Given the description of an element on the screen output the (x, y) to click on. 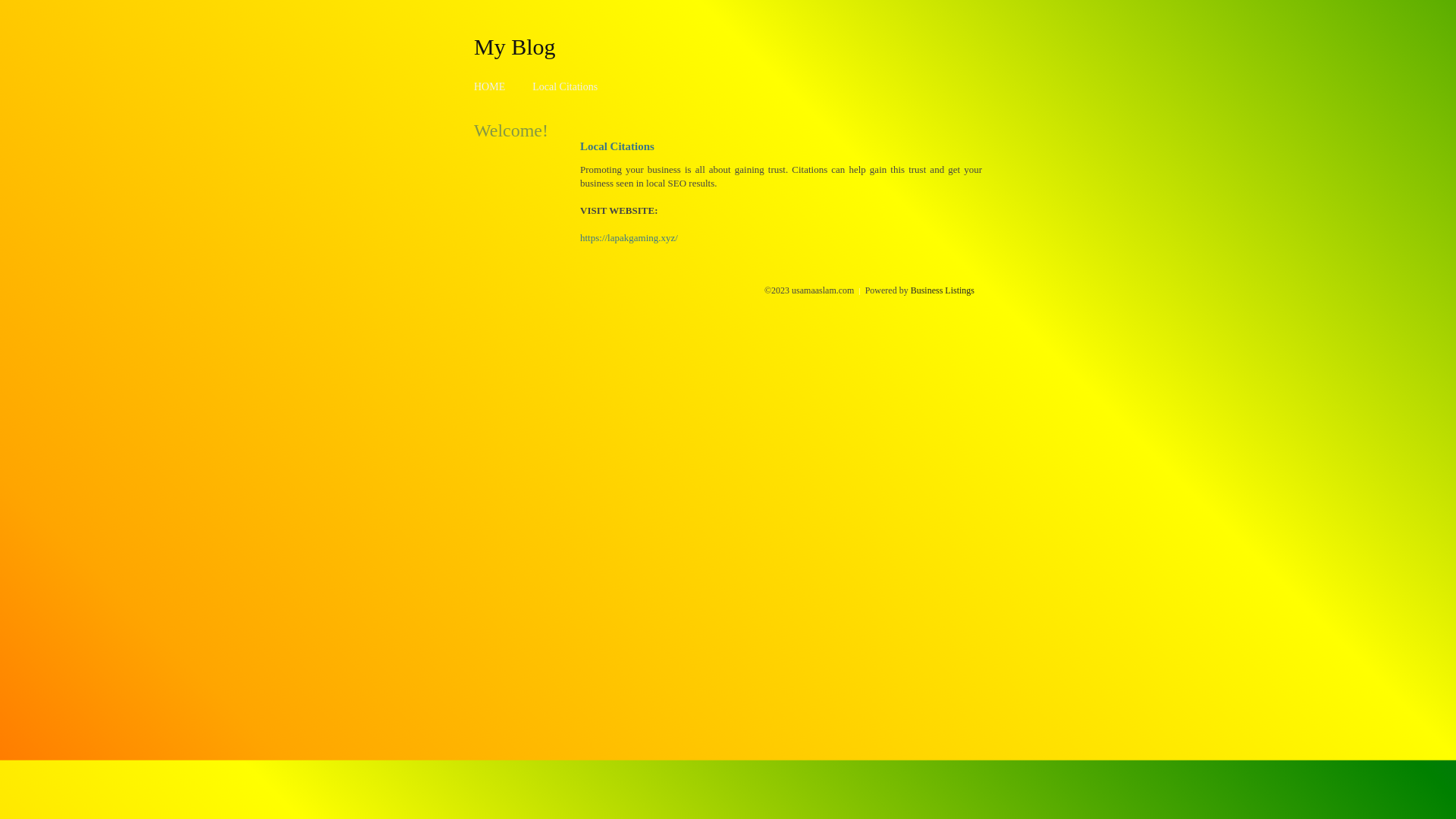
HOME Element type: text (489, 86)
Local Citations Element type: text (564, 86)
https://lapakgaming.xyz/ Element type: text (628, 237)
Business Listings Element type: text (942, 290)
My Blog Element type: text (514, 46)
